Given the description of an element on the screen output the (x, y) to click on. 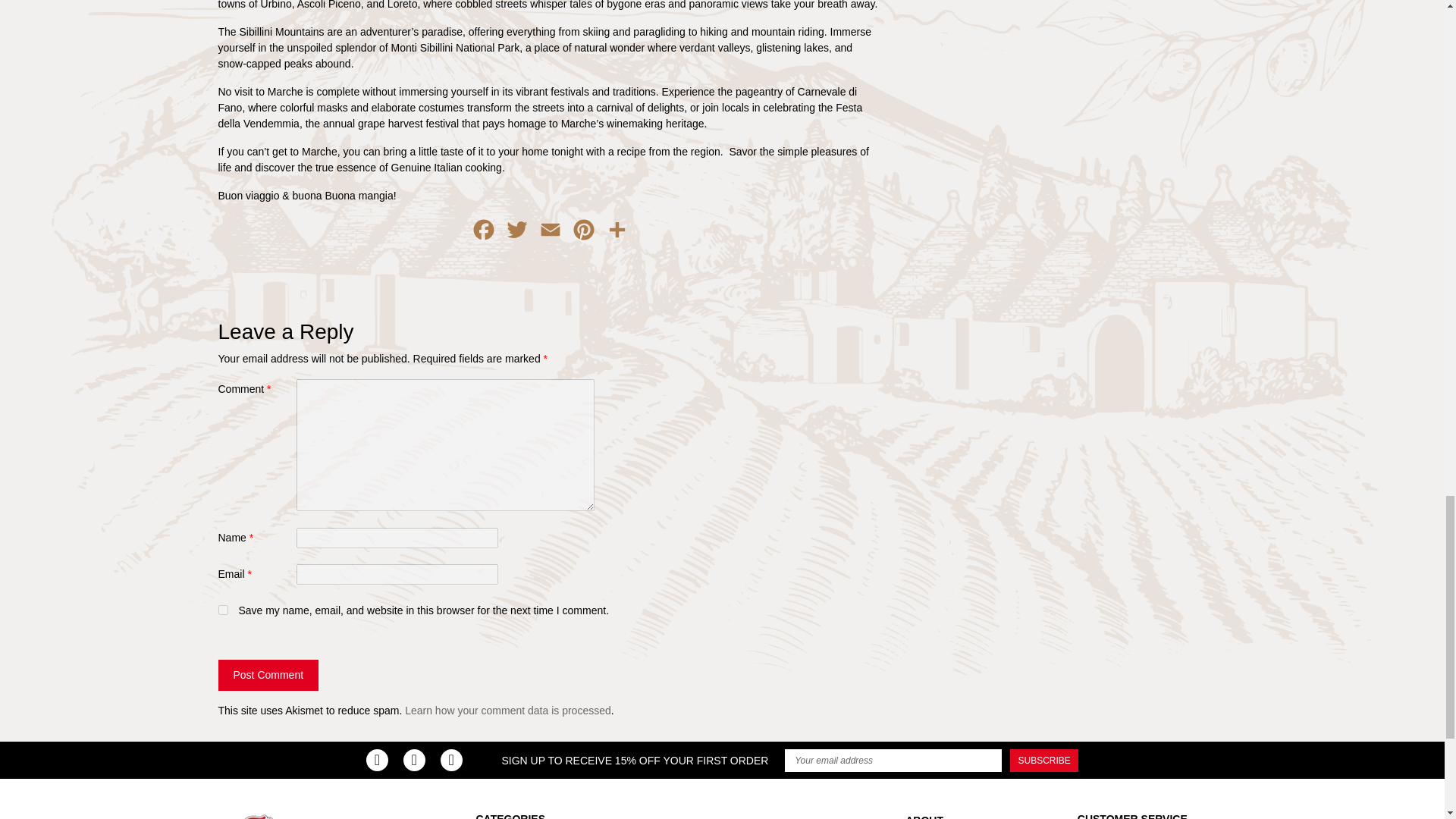
Email (550, 234)
Flora Fine Foods (278, 816)
yes (223, 610)
Pinterest (583, 234)
Facebook (483, 234)
Post Comment (268, 675)
Twitter (517, 234)
Subscribe (1044, 760)
